Given the description of an element on the screen output the (x, y) to click on. 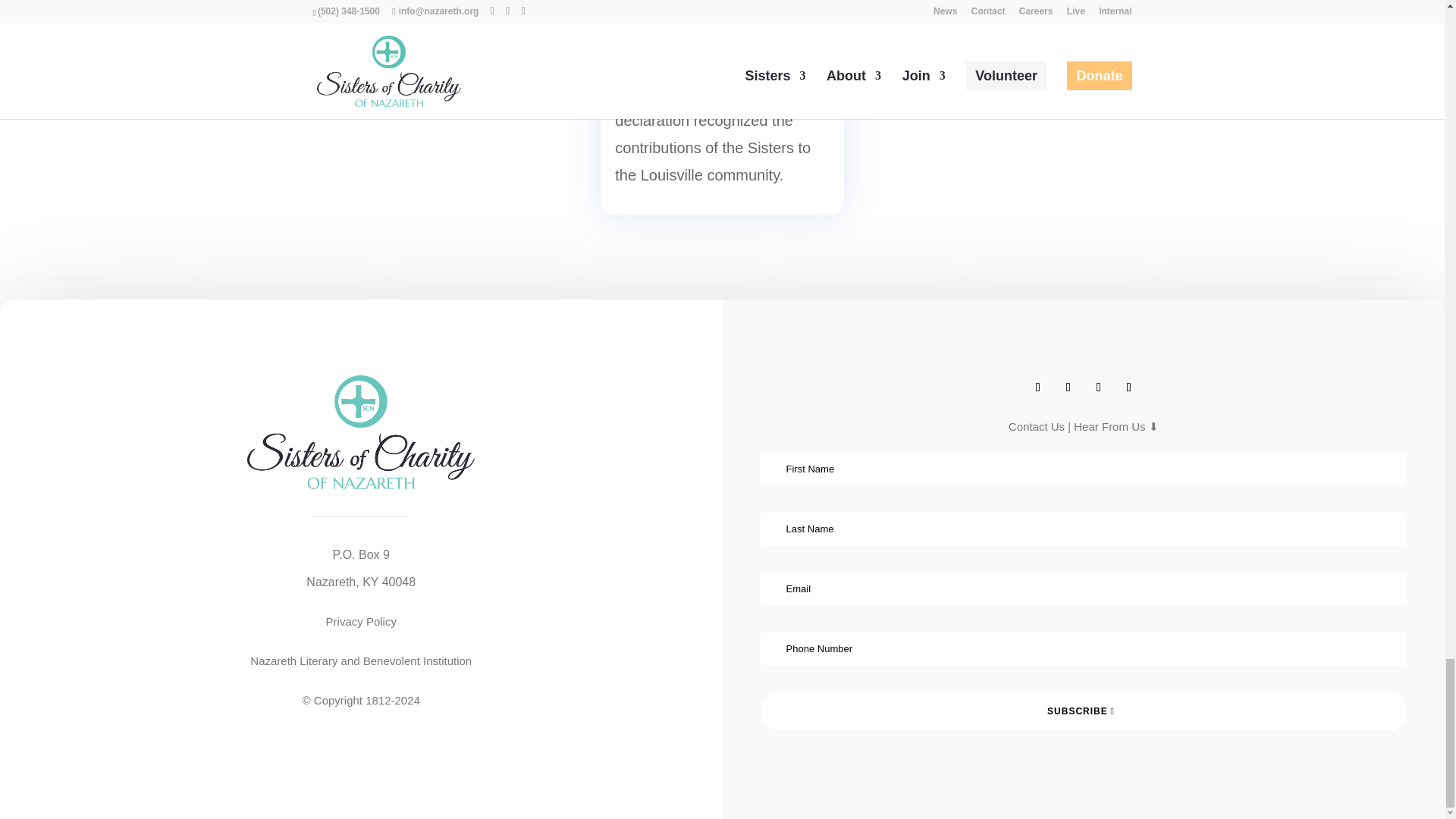
Follow on Instagram (1098, 387)
Follow on X (1068, 387)
Follow on Facebook (1037, 387)
Follow on Youtube (1128, 387)
